Given the description of an element on the screen output the (x, y) to click on. 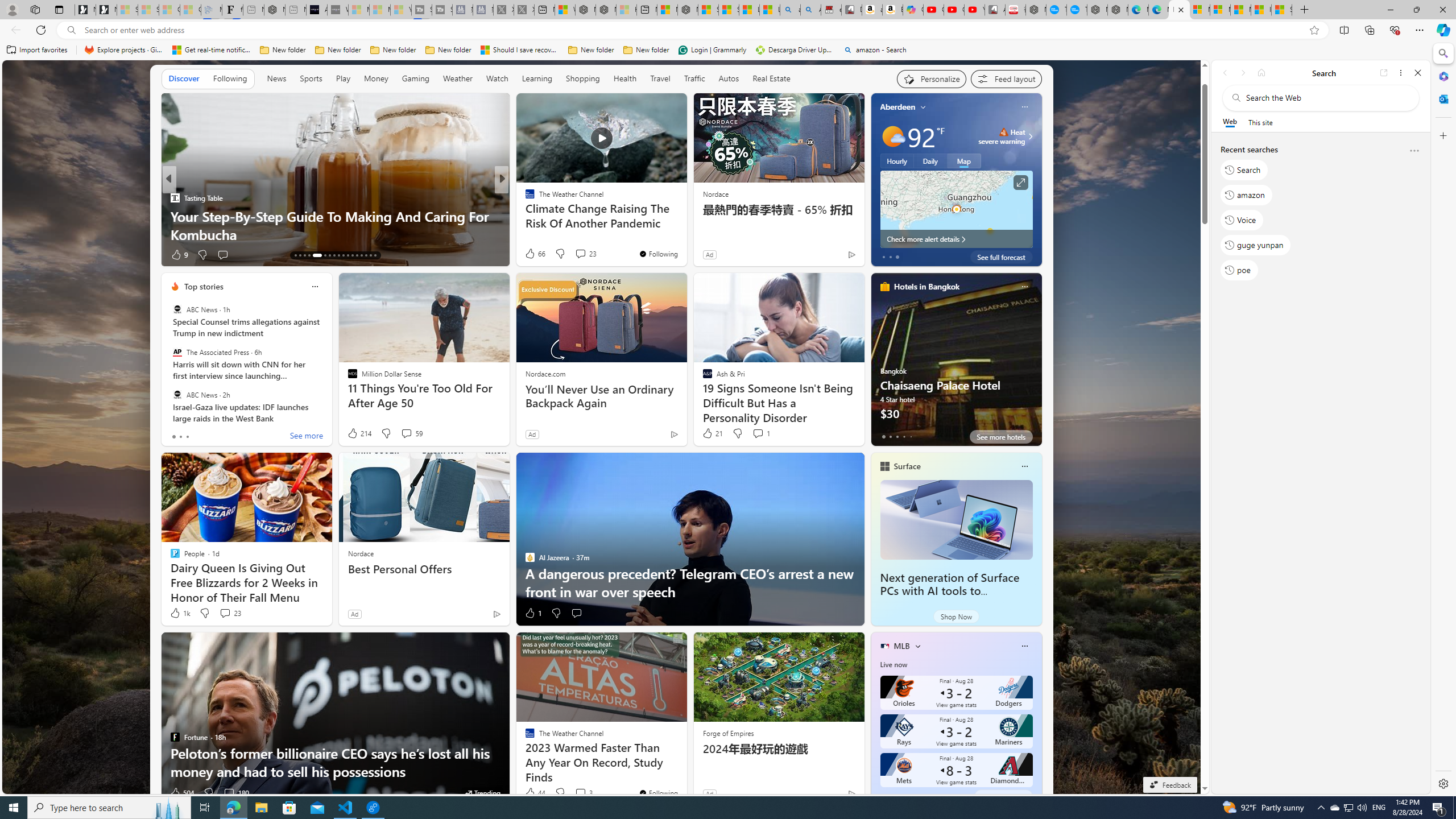
Side bar (1443, 418)
Best Personal Offers (423, 568)
Live Science (524, 197)
View comments 1 Comment (757, 432)
67 Like (530, 254)
tab-2 (897, 795)
